Given the description of an element on the screen output the (x, y) to click on. 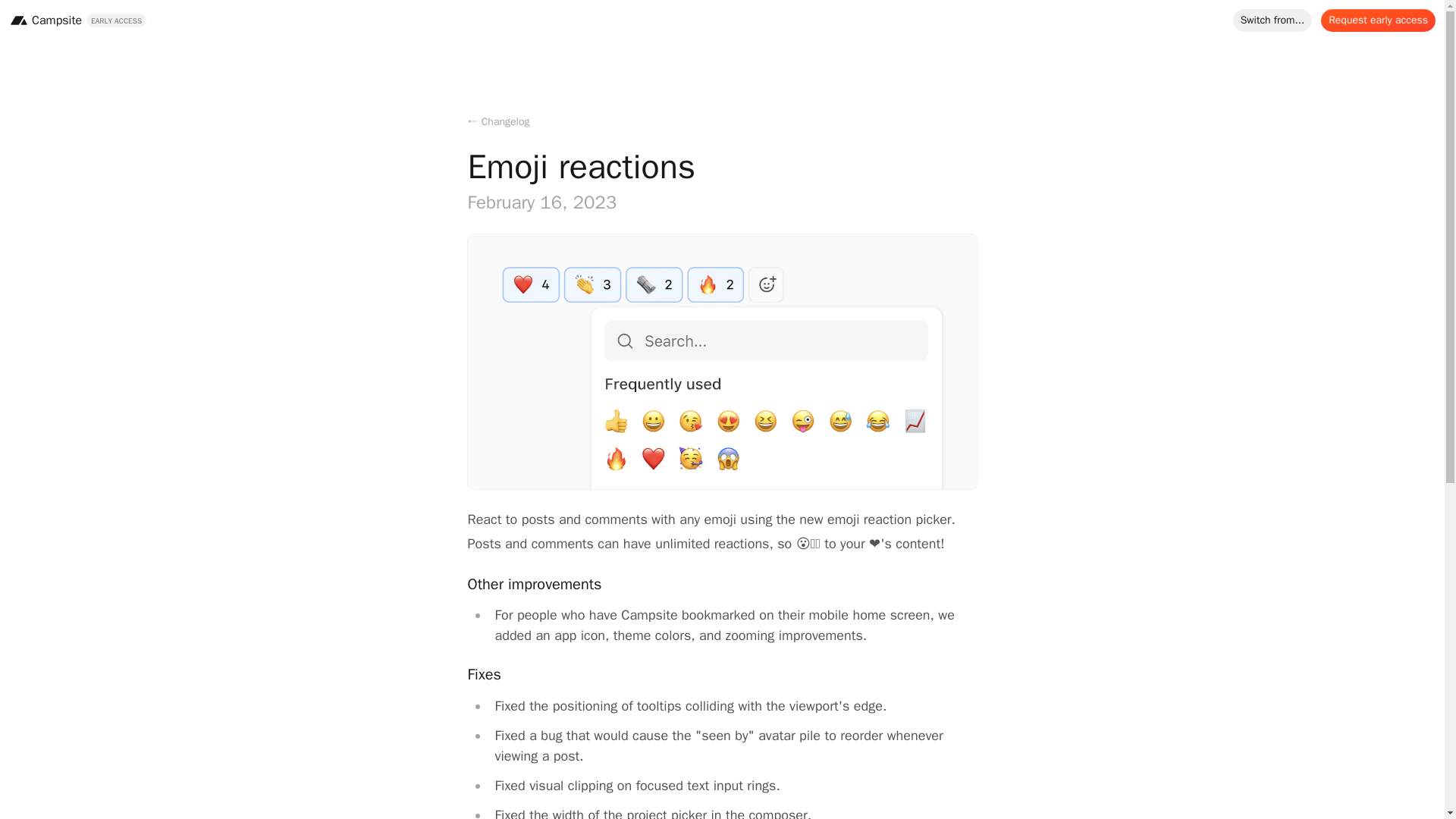
February 16, 2023 (721, 202)
Request early access (1377, 20)
Switch from... (1272, 20)
